Given the description of an element on the screen output the (x, y) to click on. 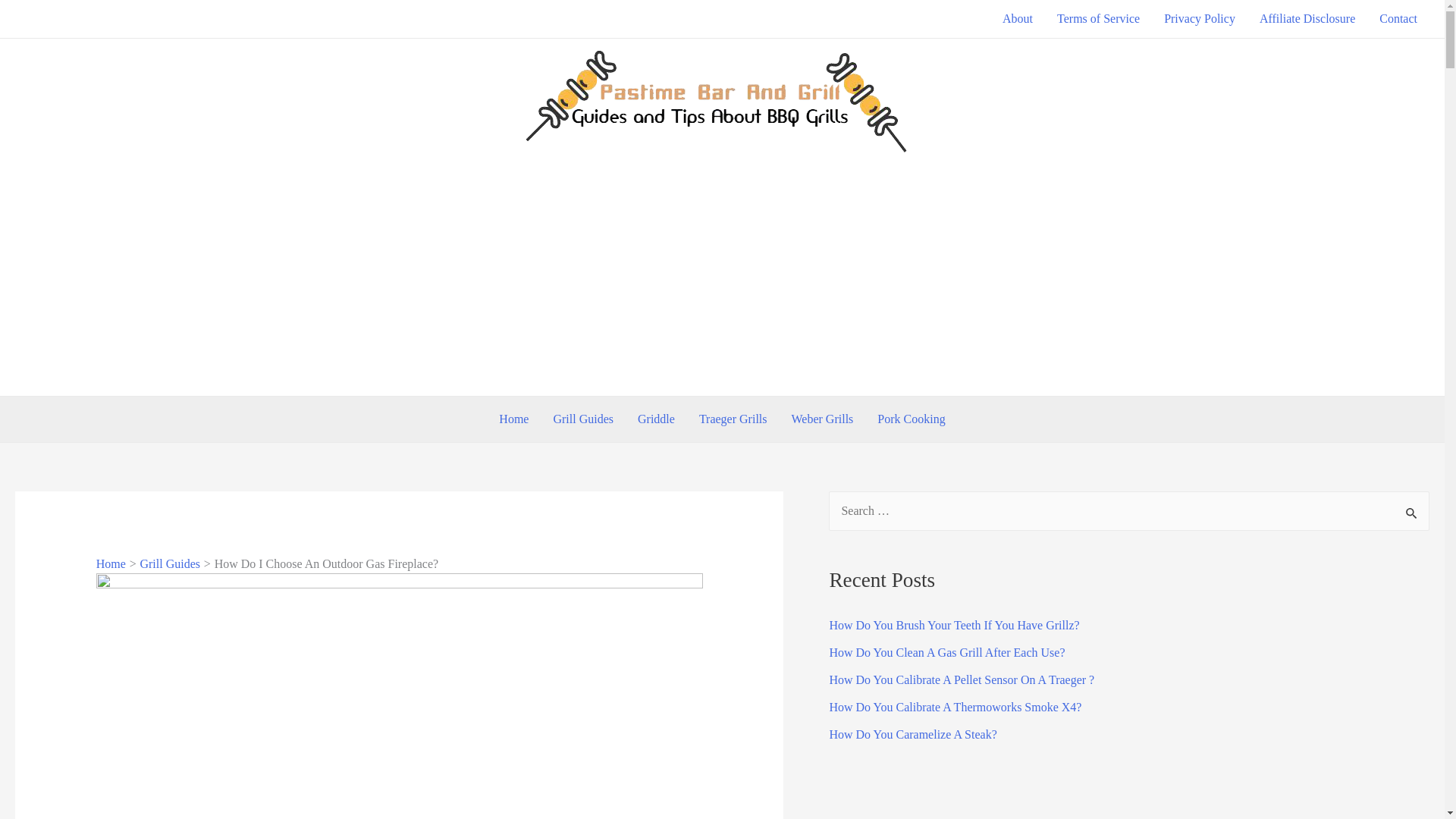
Privacy Policy (1199, 18)
Home (110, 563)
Traeger Grills (732, 419)
Weber Grills (822, 419)
Contact (1398, 18)
Pork Cooking (910, 419)
Grill Guides (583, 419)
Terms of Service (1098, 18)
Grill Guides (169, 563)
About (1017, 18)
Home (513, 419)
Affiliate Disclosure (1307, 18)
Griddle (656, 419)
